Given the description of an element on the screen output the (x, y) to click on. 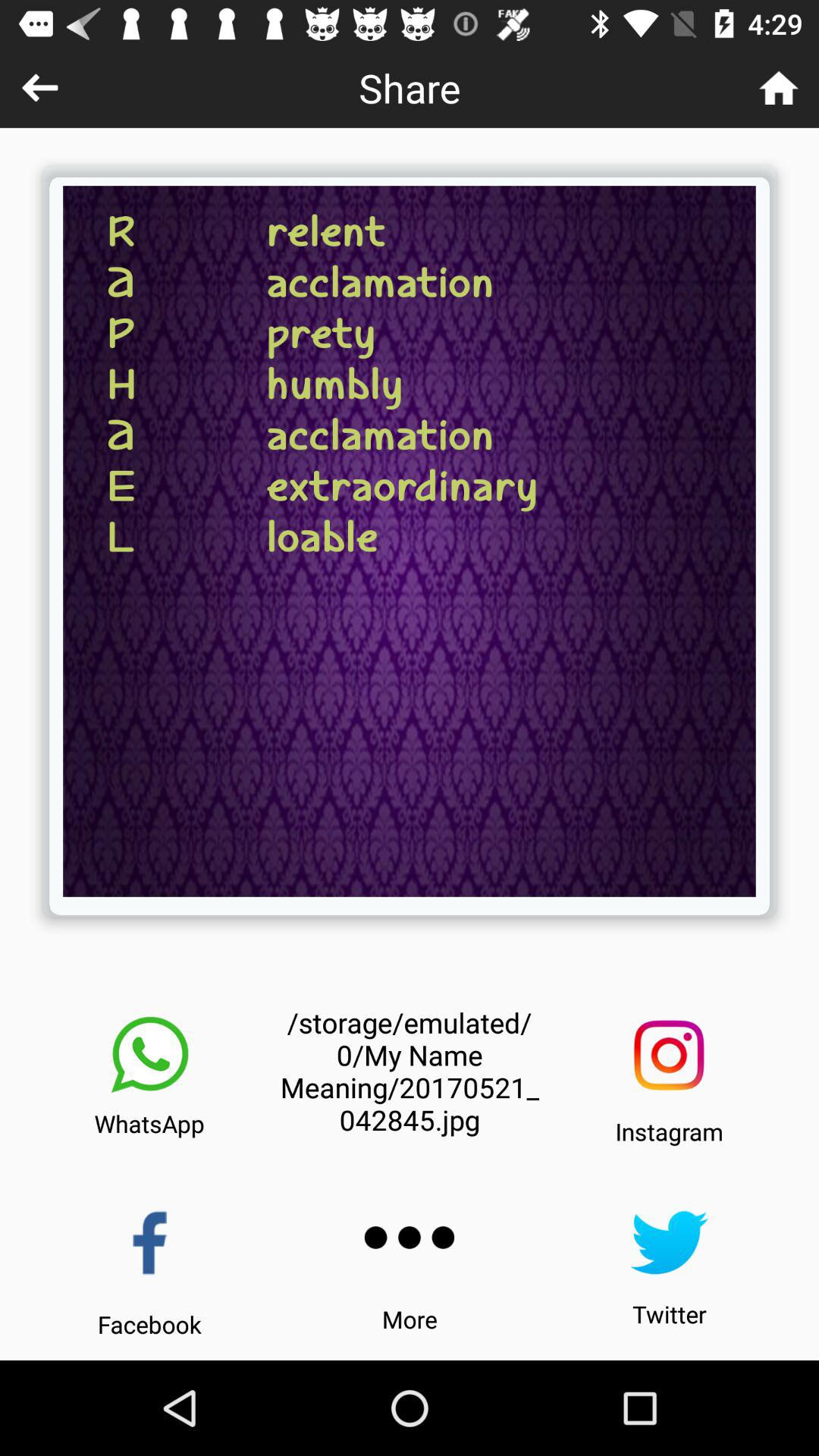
tap the item above the more item (409, 1237)
